Given the description of an element on the screen output the (x, y) to click on. 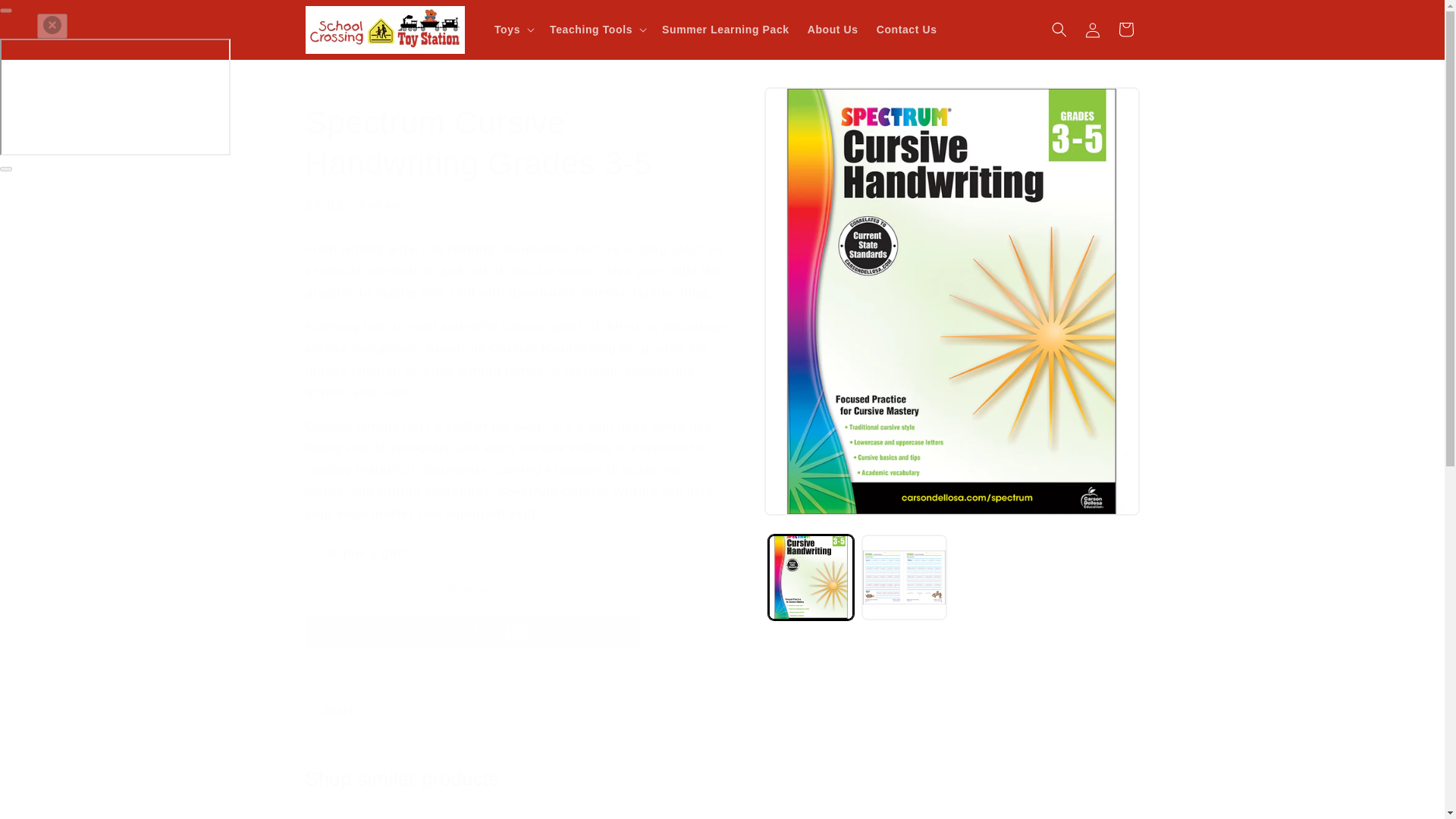
Skip to content (45, 17)
